Given the description of an element on the screen output the (x, y) to click on. 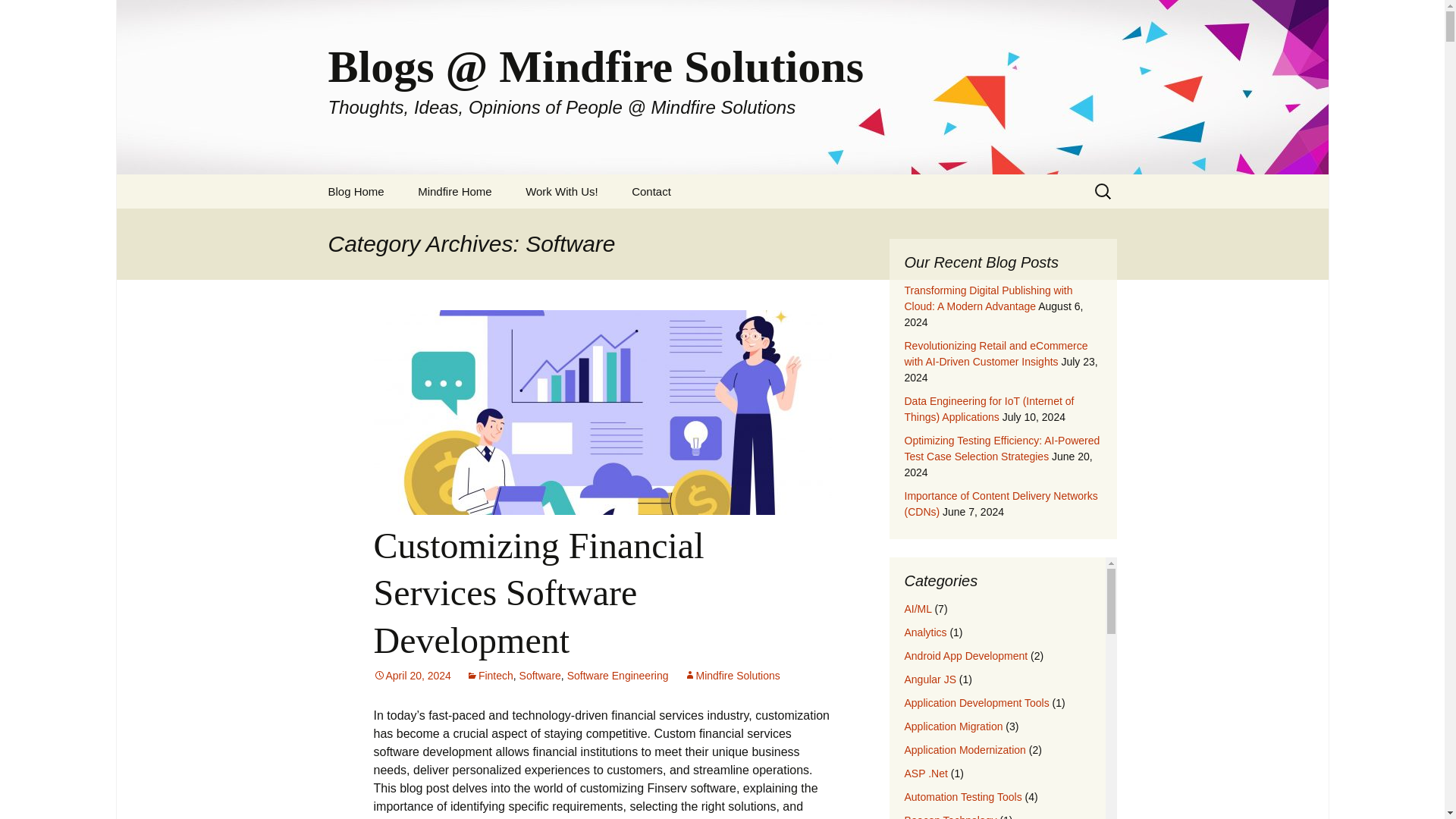
Mindfire Solutions (732, 675)
Work With Us! (561, 191)
Software Engineering (617, 675)
April 20, 2024 (410, 675)
Software (539, 675)
Fintech (489, 675)
Search (18, 15)
Mindfire Home (454, 191)
View all posts by Mindfire Solutions (732, 675)
